Given the description of an element on the screen output the (x, y) to click on. 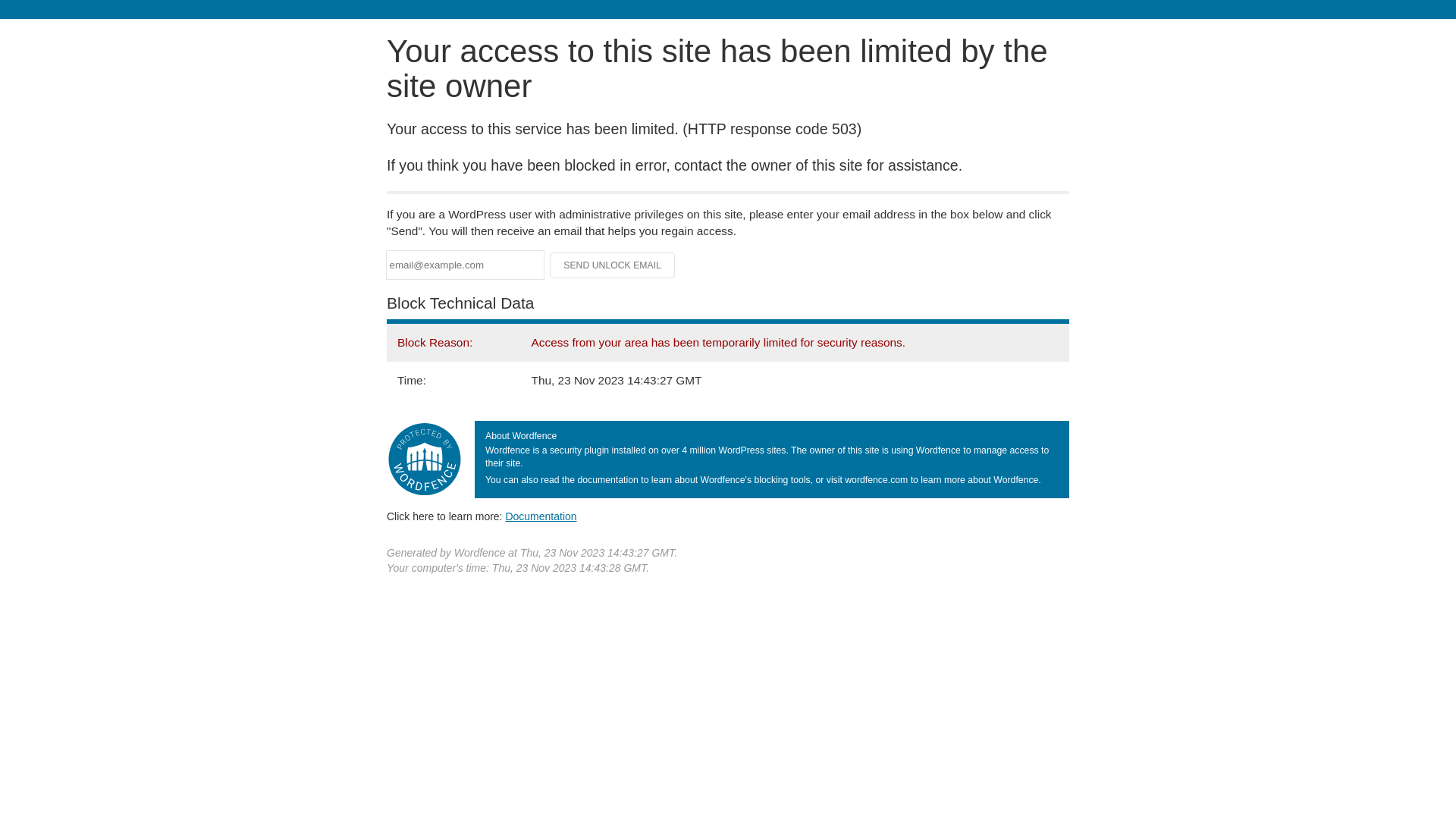
Send Unlock Email Element type: text (612, 265)
Documentation Element type: text (540, 516)
